Given the description of an element on the screen output the (x, y) to click on. 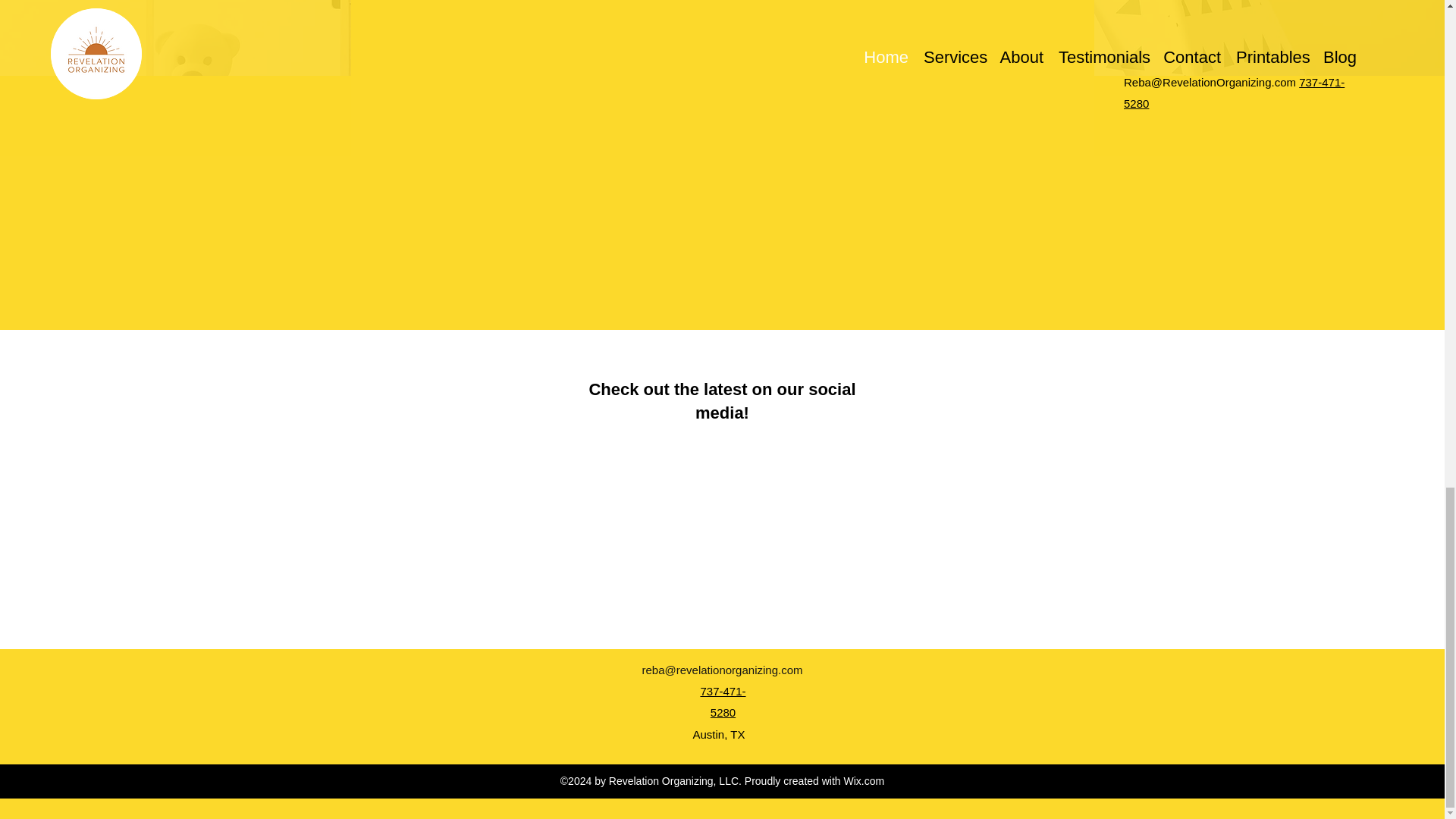
737-471-5280 (722, 701)
